Given the description of an element on the screen output the (x, y) to click on. 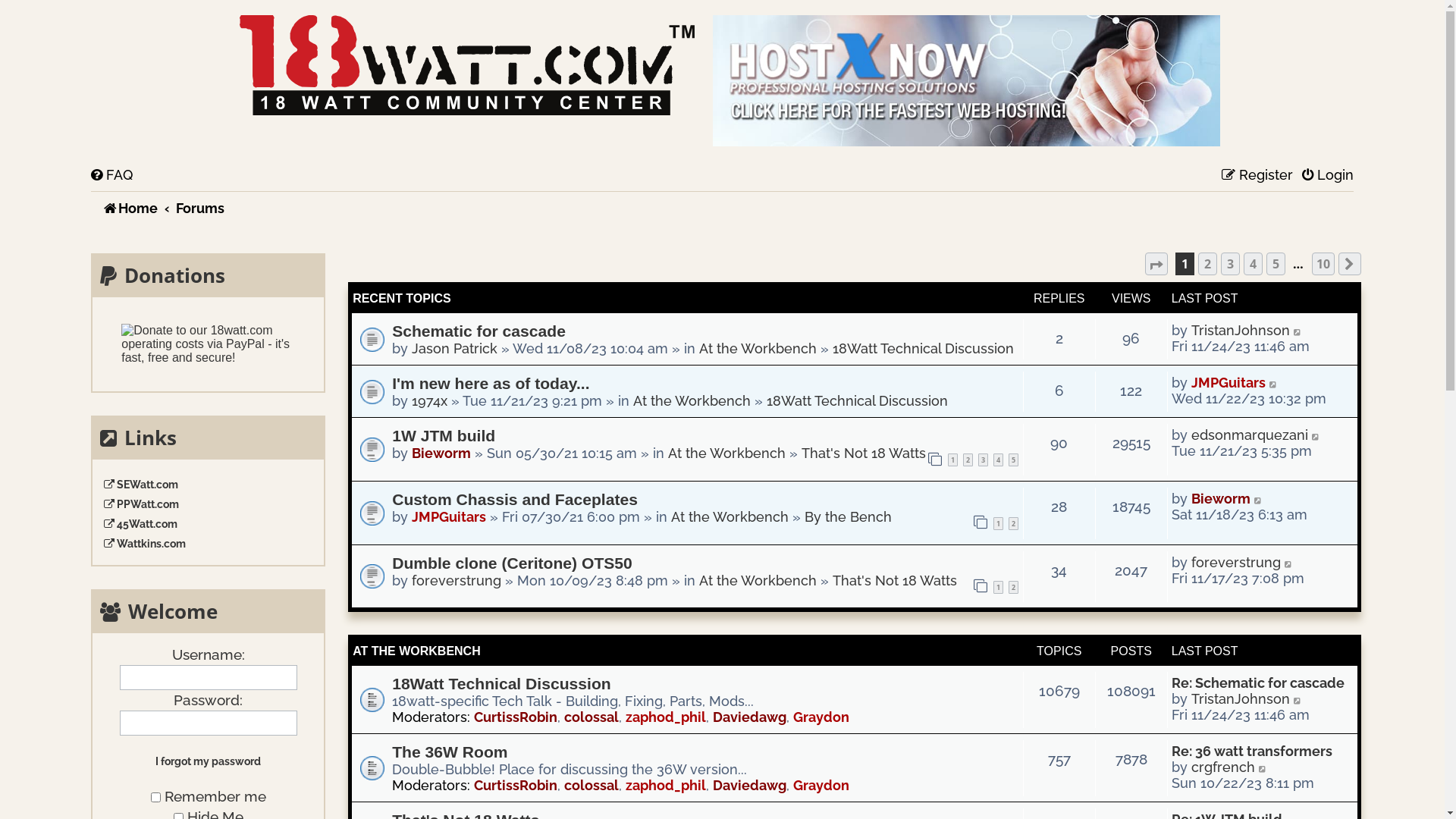
foreverstrung Element type: text (456, 579)
Register Element type: text (1256, 175)
That's Not 18 Watts Element type: text (863, 453)
Wattkins.com Element type: text (207, 543)
Bieworm Element type: text (440, 453)
3 Element type: text (983, 459)
Go to last post Element type: hover (1258, 498)
Go to last post Element type: hover (1273, 382)
colossal Element type: text (591, 716)
At the Workbench Element type: text (729, 516)
JMPGuitars Element type: text (1228, 382)
crgfrench Element type: text (1223, 767)
Forums Element type: text (199, 208)
1 Element type: text (998, 586)
Page of Element type: text (1156, 263)
Daviedawg Element type: text (749, 785)
CurtissRobin Element type: text (515, 785)
10 Element type: text (1322, 263)
2 Element type: text (1013, 523)
PPWatt.com Element type: text (207, 504)
I forgot my password Element type: text (207, 761)
CurtissRobin Element type: text (515, 716)
Dumble clone (Ceritone) OTS50 Element type: text (512, 562)
Schematic for cascade Element type: text (478, 330)
Login Element type: text (1327, 175)
colossal Element type: text (591, 785)
Graydon Element type: text (821, 716)
Next Element type: text (1349, 263)
4 Element type: text (1252, 263)
Home Element type: text (124, 208)
Go to last post Element type: hover (1288, 561)
4 Element type: text (998, 459)
2 Element type: text (1013, 586)
View the latest post Element type: text (1262, 767)
At the Workbench Element type: text (757, 348)
Jason Patrick Element type: text (454, 348)
1 Element type: text (952, 459)
Re: 36 watt transformers Element type: text (1251, 751)
AT THE WORKBENCH Element type: text (416, 650)
Re: Schematic for cascade Element type: text (1257, 682)
Bieworm Element type: text (1220, 498)
Go to last post Element type: hover (1315, 434)
At the Workbench Element type: text (757, 579)
At the Workbench Element type: text (691, 400)
By the Bench Element type: text (847, 516)
2 Element type: text (1207, 263)
18Watt Technical Discussion Element type: text (501, 683)
Home Element type: hover (466, 65)
Go to last post Element type: hover (1297, 330)
SEWatt.com Element type: text (207, 484)
5 Element type: text (1275, 263)
At the Workbench Element type: text (726, 453)
foreverstrung Element type: text (1235, 561)
TristanJohnson Element type: text (1240, 698)
1W JTM build Element type: text (443, 435)
zaphod_phil Element type: text (665, 785)
1974x Element type: text (429, 400)
View the latest post Element type: text (1297, 698)
Daviedawg Element type: text (749, 716)
JMPGuitars Element type: text (448, 516)
18Watt Technical Discussion Element type: text (922, 348)
Graydon Element type: text (821, 785)
3 Element type: text (1229, 263)
1 Element type: text (998, 523)
18Watt Technical Discussion Element type: text (856, 400)
5 Element type: text (1013, 459)
2 Element type: text (967, 459)
That's Not 18 Watts Element type: text (894, 579)
Custom Chassis and Faceplates Element type: text (514, 499)
TristanJohnson Element type: text (1240, 330)
zaphod_phil Element type: text (665, 716)
FAQ Element type: text (111, 175)
45Watt.com Element type: text (207, 523)
edsonmarquezani Element type: text (1249, 434)
I'm new here as of today... Element type: text (490, 383)
The 36W Room Element type: text (449, 751)
